Given the description of an element on the screen output the (x, y) to click on. 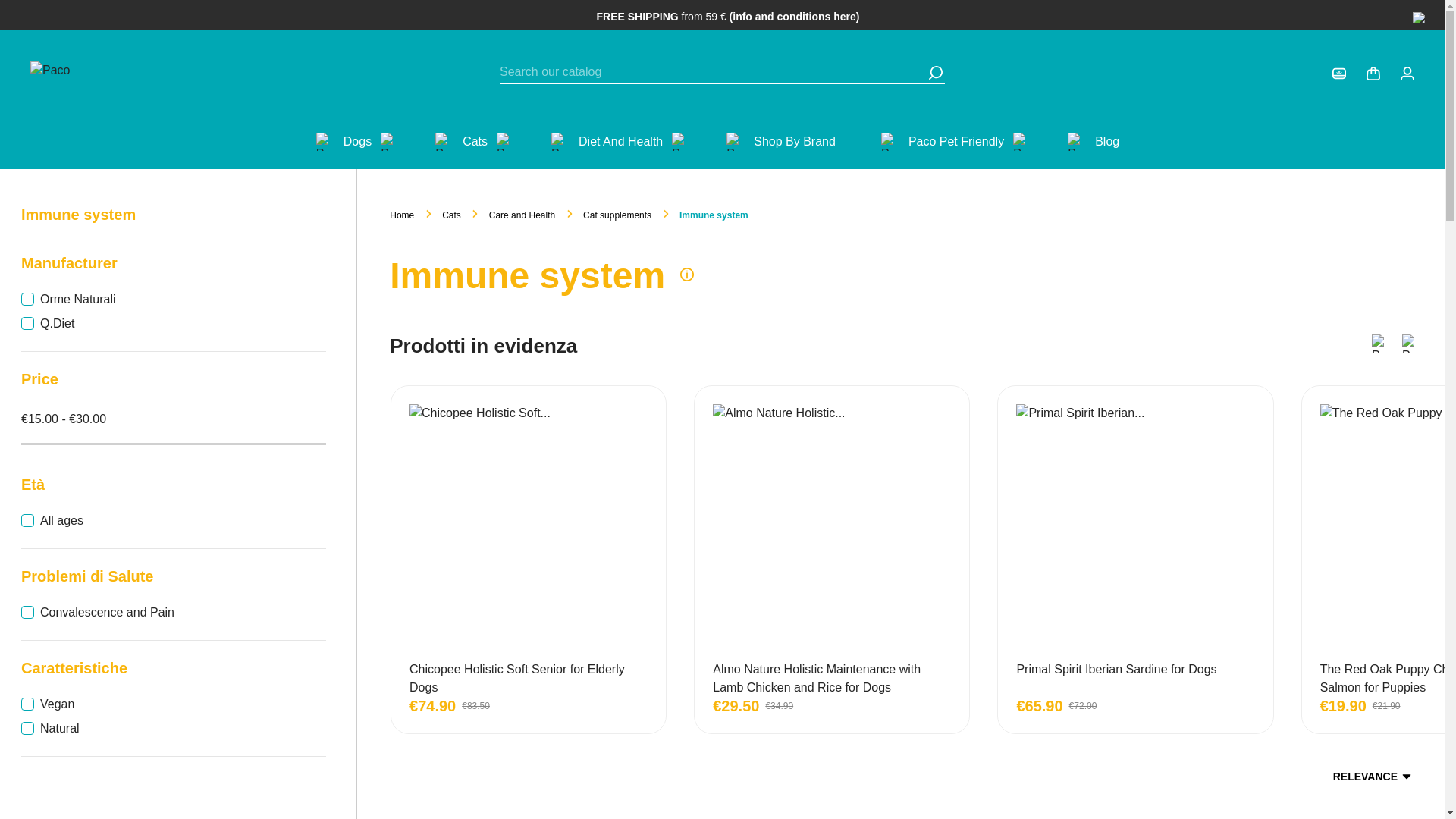
Log in to your customer account (1338, 73)
Log in to your customer account (1406, 73)
Dogs (357, 141)
